Given the description of an element on the screen output the (x, y) to click on. 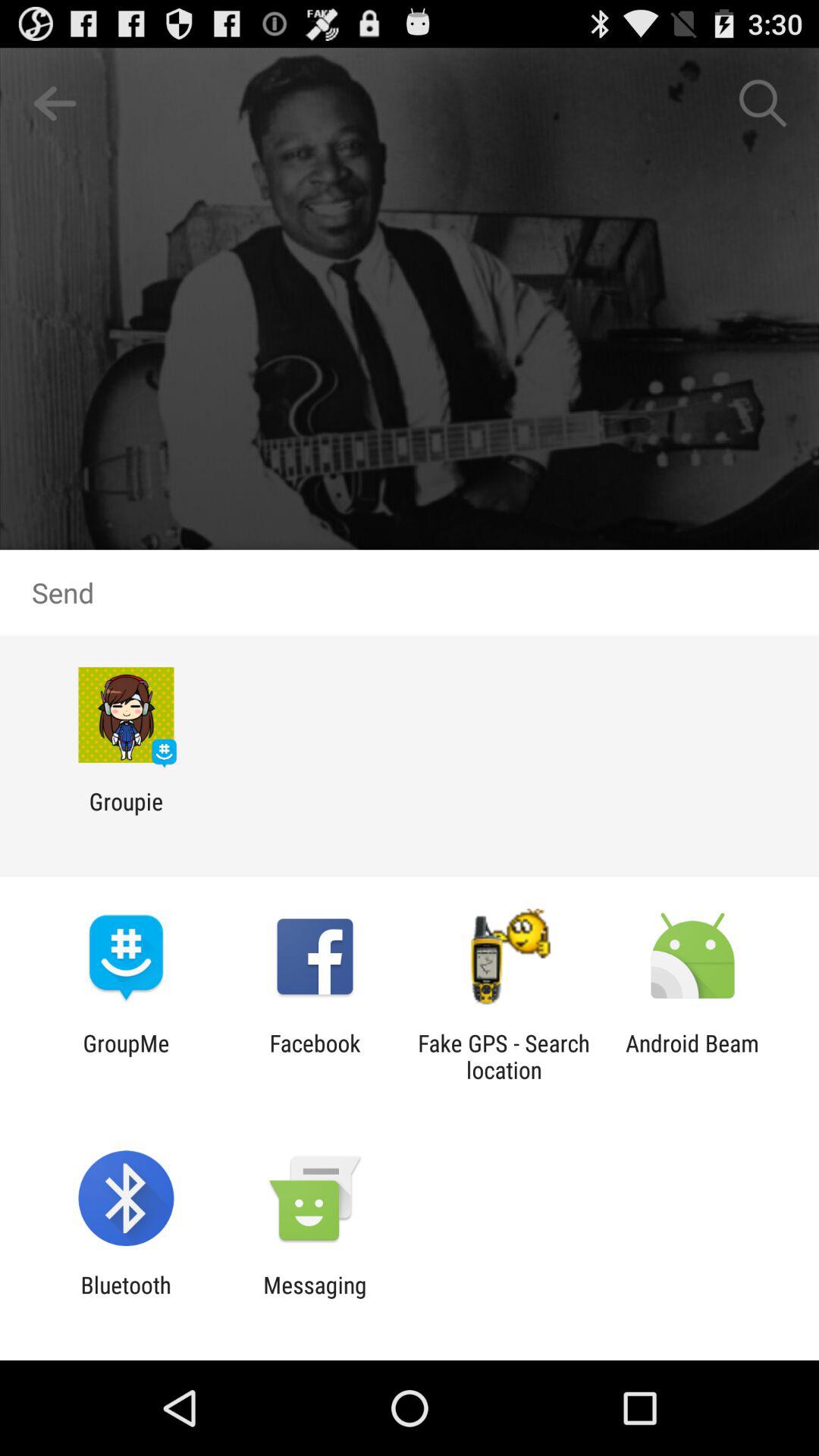
tap the icon next to the android beam app (503, 1056)
